Given the description of an element on the screen output the (x, y) to click on. 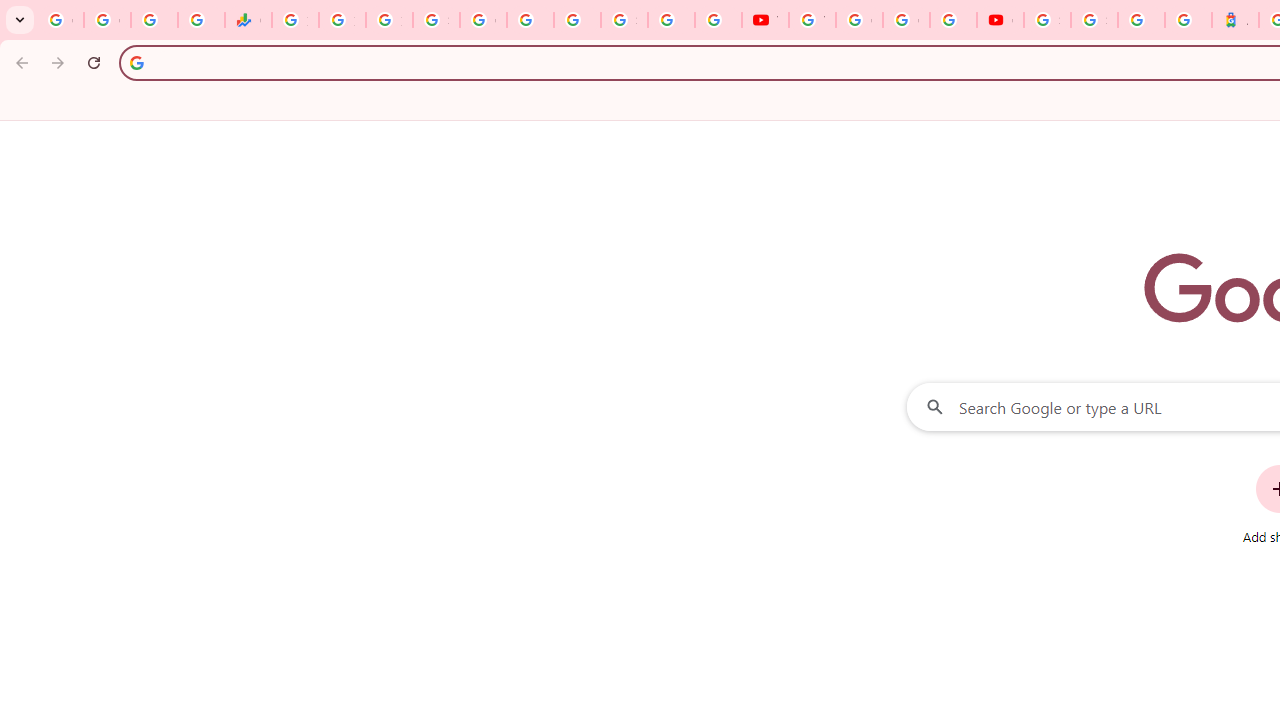
YouTube (811, 20)
Create your Google Account (906, 20)
Content Creator Programs & Opportunities - YouTube Creators (999, 20)
YouTube (765, 20)
Sign in - Google Accounts (436, 20)
